Given the description of an element on the screen output the (x, y) to click on. 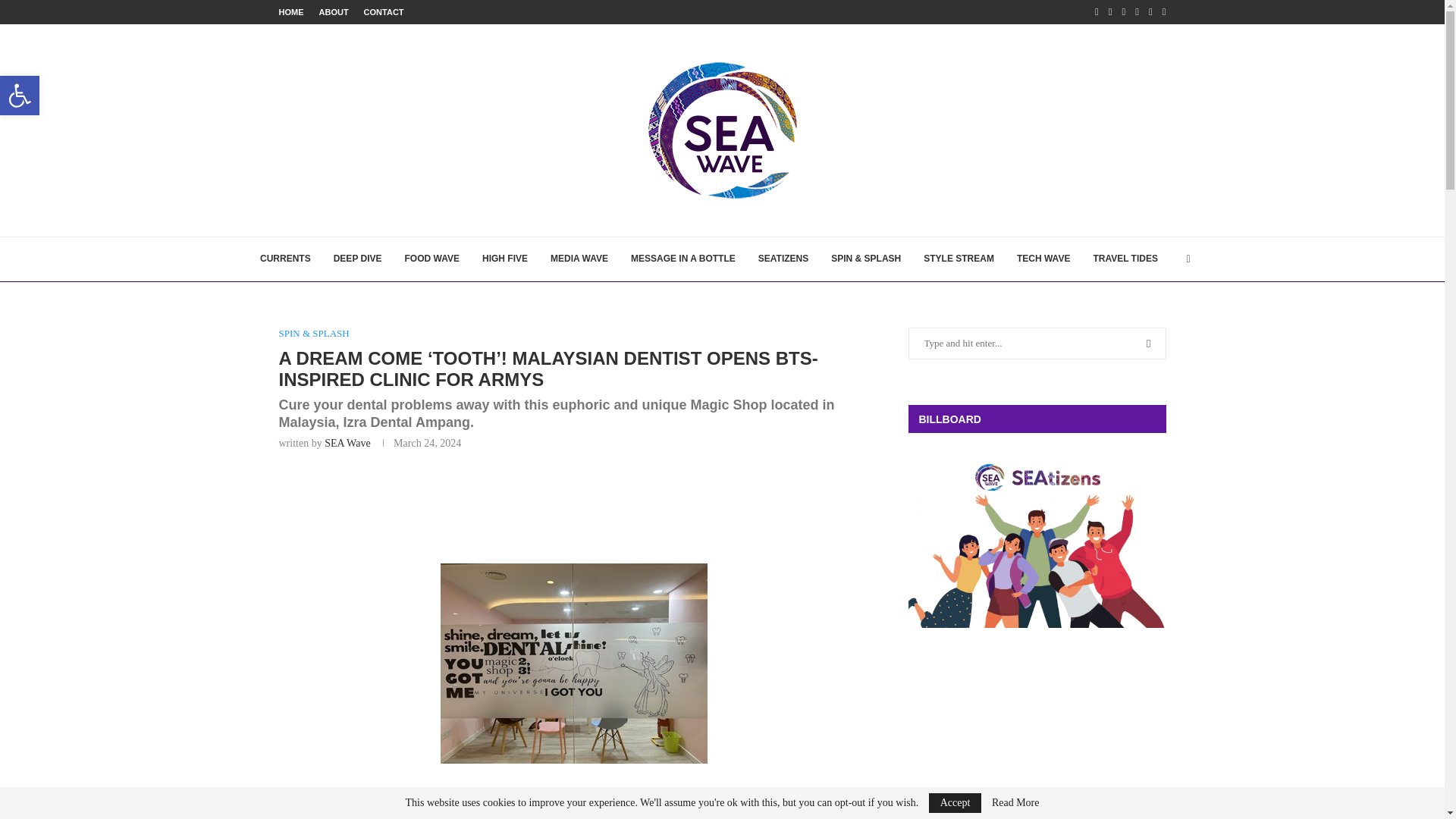
Accessibility Tools (19, 95)
Advertisement (574, 503)
Tech, Gadgets and Gaming (1043, 258)
DEEP DIVE (357, 258)
SEATIZENS (782, 258)
Current Events and Trends (284, 258)
Picture1 (574, 663)
Accessibility Tools (19, 95)
Travel and Stroll (1125, 258)
About SeaWave Media (332, 12)
Hobbies and Interests (865, 258)
Reflections (683, 258)
Contact Information of SeaWave Media (384, 12)
FOOD WAVE (431, 258)
TECH WAVE (1043, 258)
